Given the description of an element on the screen output the (x, y) to click on. 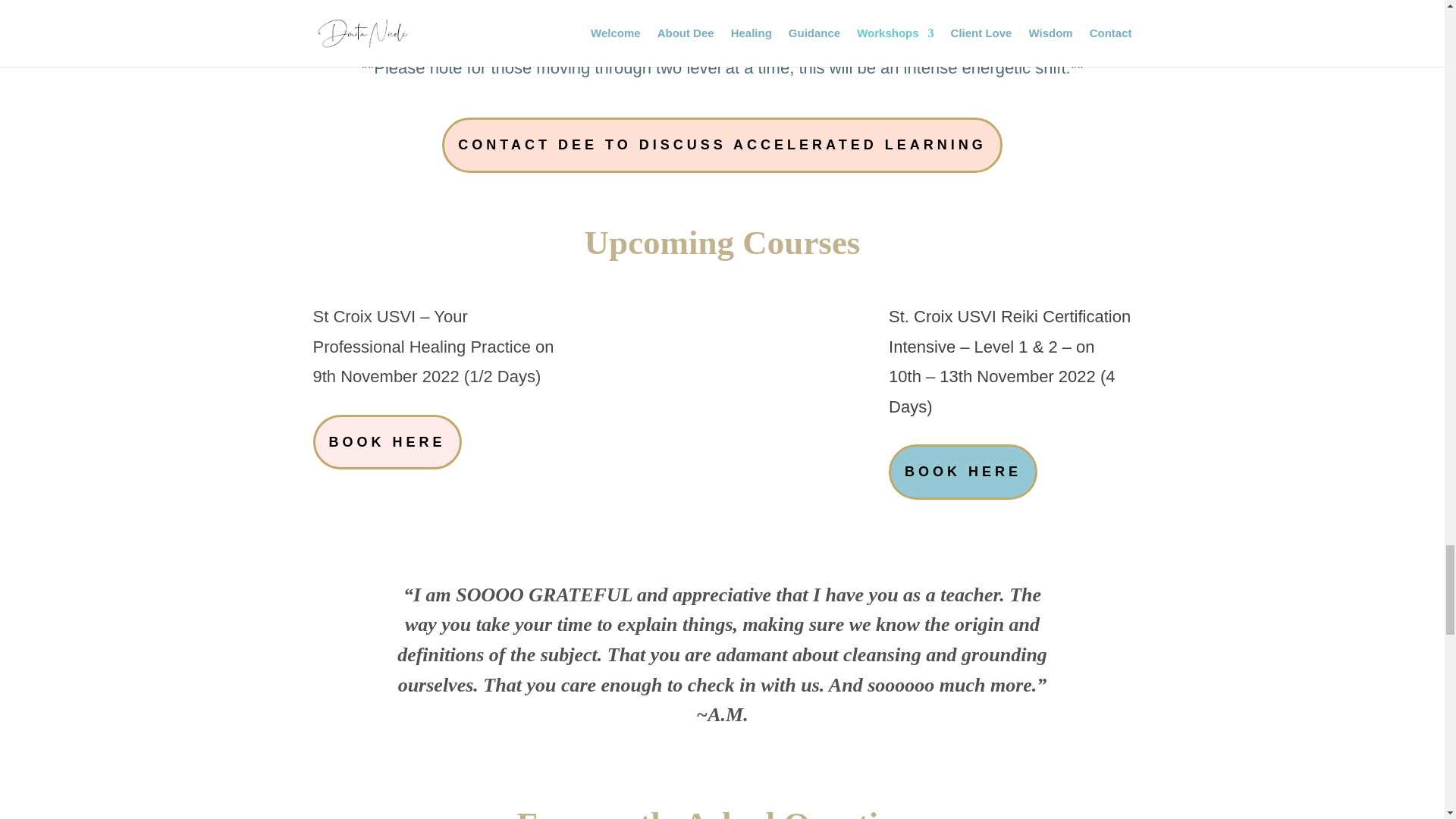
BOOK HERE (387, 442)
CONTACT DEE TO DISCUSS ACCELERATED LEARNING (721, 144)
BOOK HERE (962, 471)
